Given the description of an element on the screen output the (x, y) to click on. 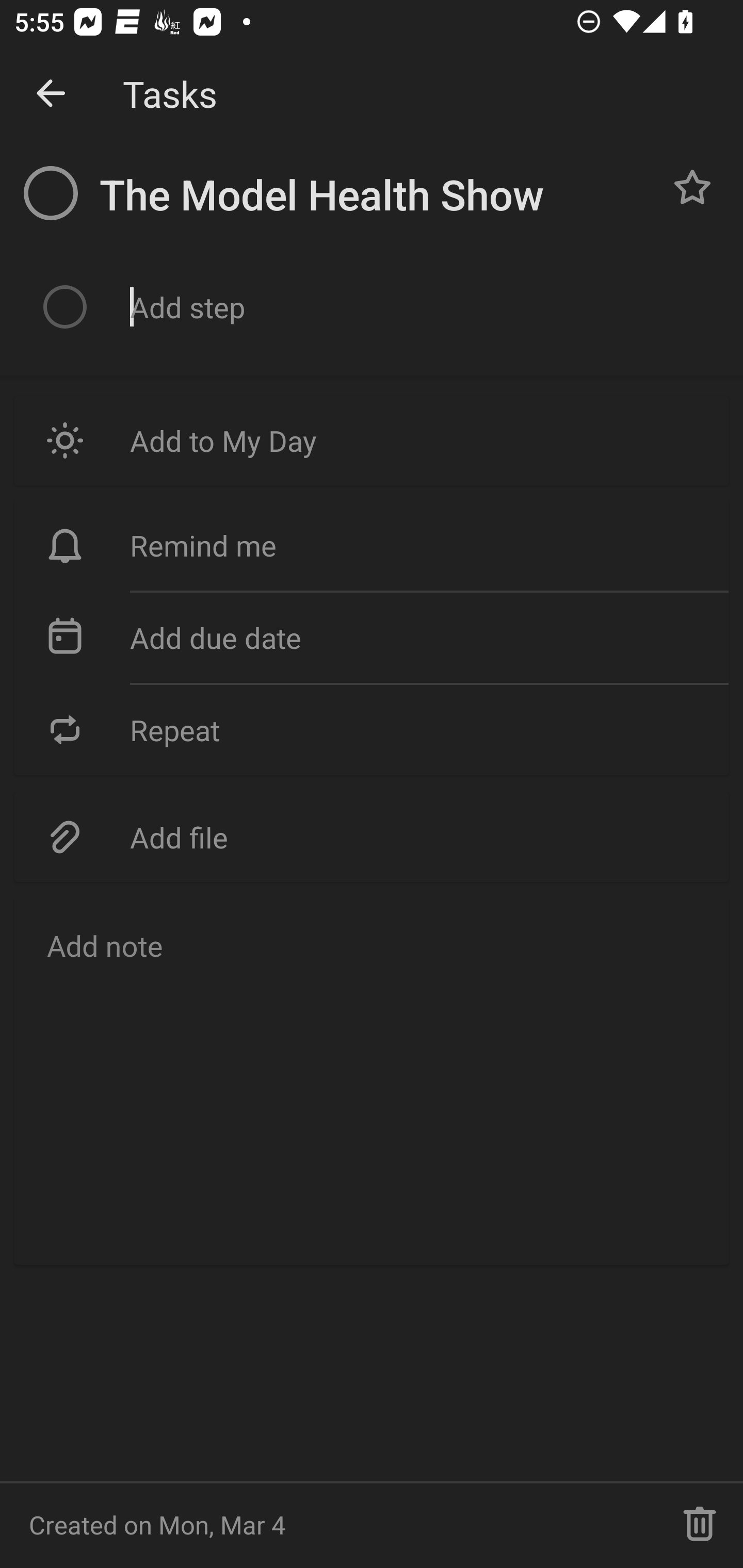
Dismiss detail view (50, 93)
Incomplete task The Model Health Show, Button (50, 192)
The Model Health Show (374, 195)
Normal task The Model Health Show, Button (692, 187)
Add step (422, 307)
Add to My Day (371, 440)
Remind me (371, 545)
Add due date (371, 637)
Repeat (371, 729)
Add file (371, 836)
Add note, Button Email Renderer Add note (371, 1080)
Delete task (699, 1524)
